Given the description of an element on the screen output the (x, y) to click on. 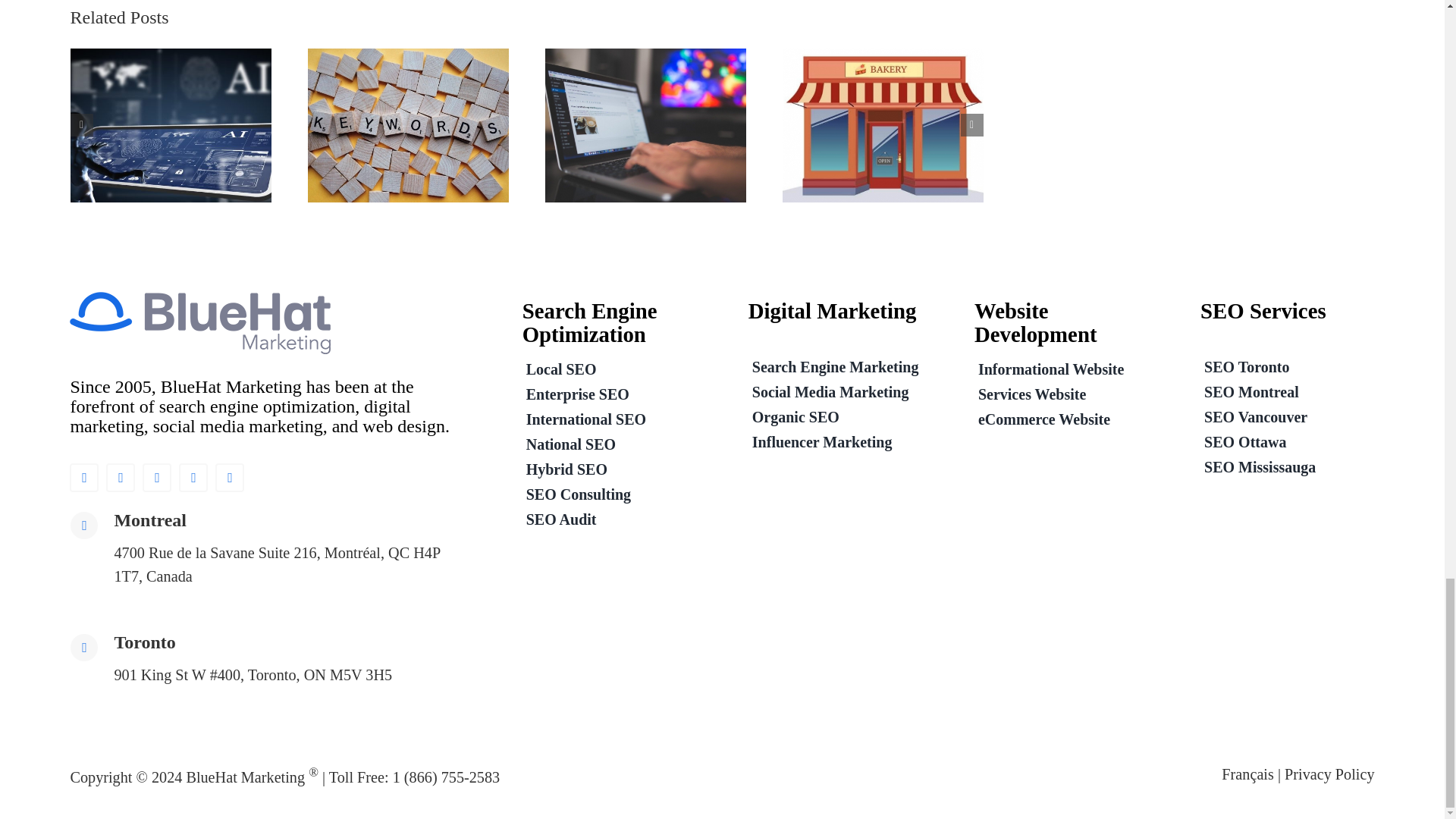
X (120, 477)
Instagram (156, 477)
LinkedIn (229, 477)
Facebook (84, 477)
YouTube (193, 477)
